Given the description of an element on the screen output the (x, y) to click on. 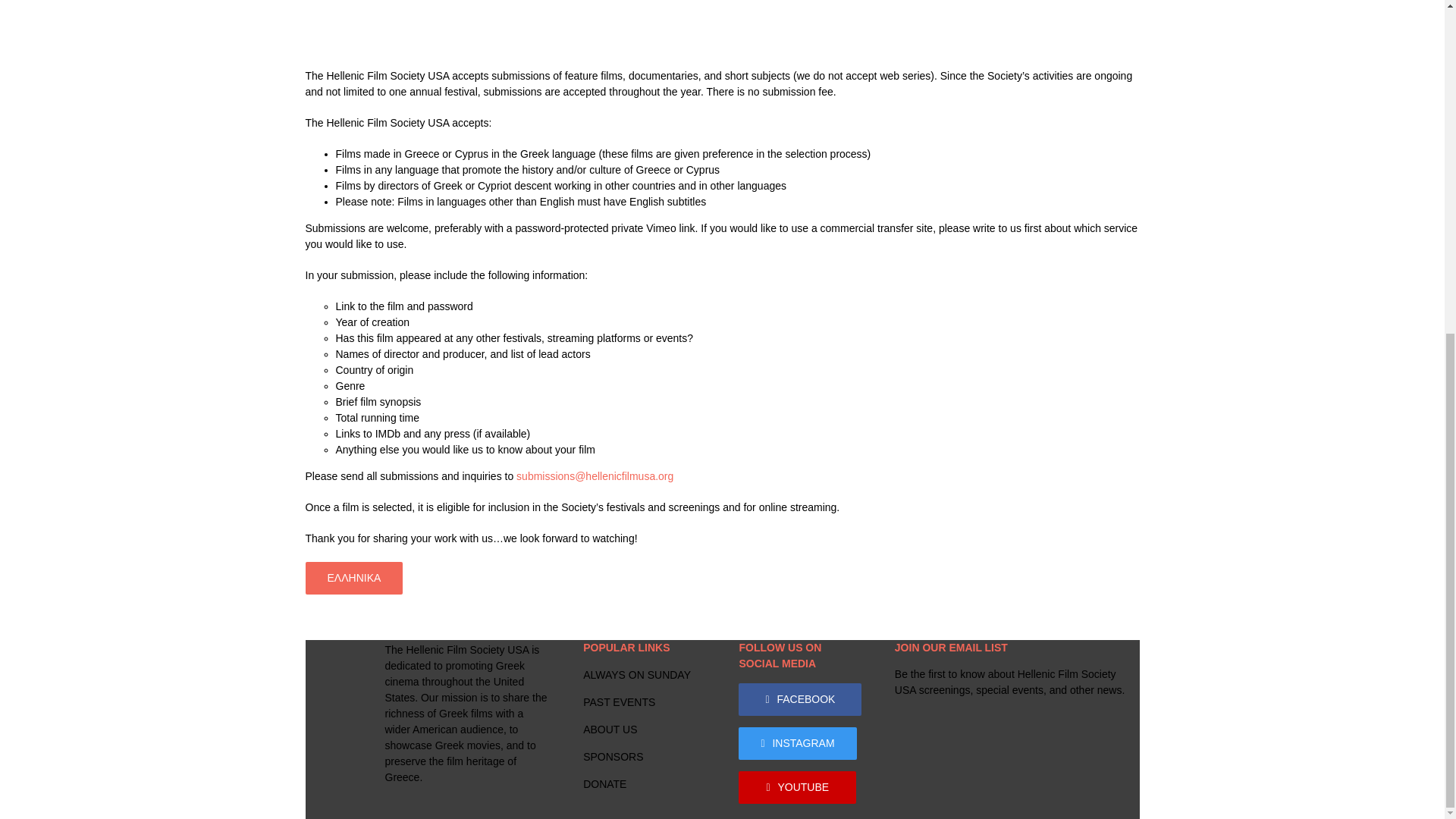
Submit2 (721, 15)
